Given the description of an element on the screen output the (x, y) to click on. 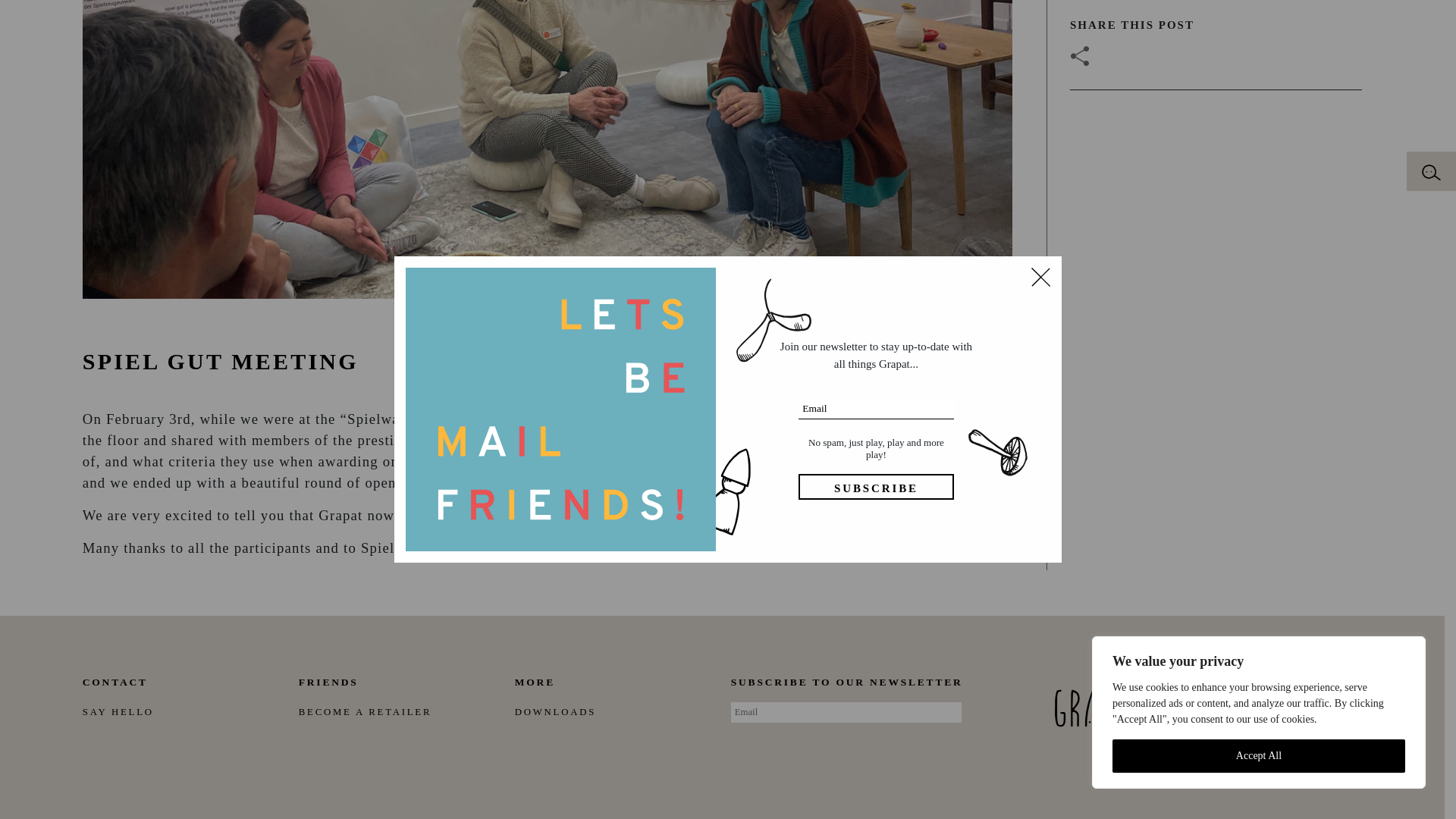
Subscribe (875, 308)
Accept All (1258, 577)
